Given the description of an element on the screen output the (x, y) to click on. 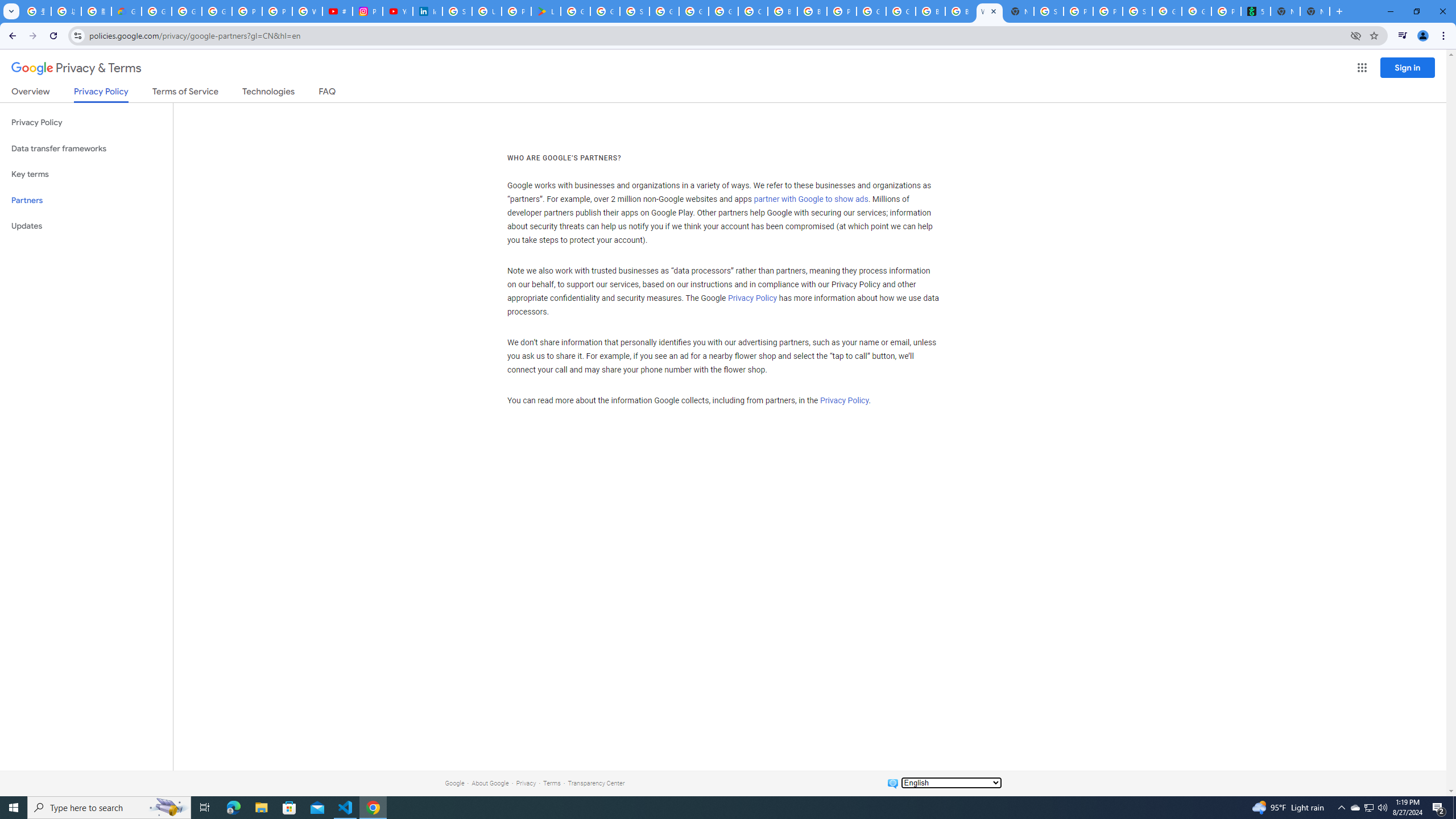
Privacy Help Center - Policies Help (277, 11)
About Google (490, 783)
